Given the description of an element on the screen output the (x, y) to click on. 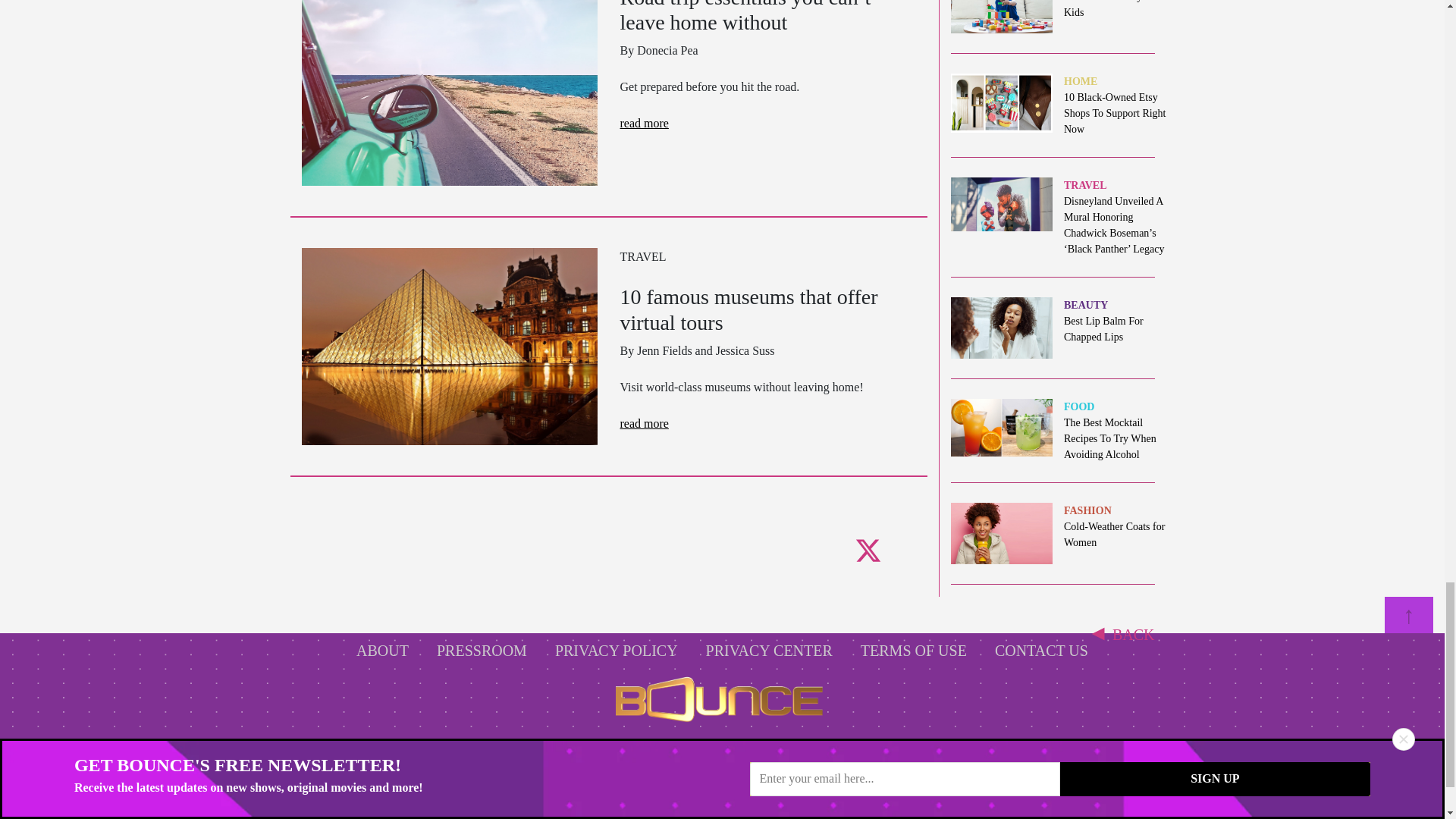
read more (644, 422)
read more (644, 123)
